Given the description of an element on the screen output the (x, y) to click on. 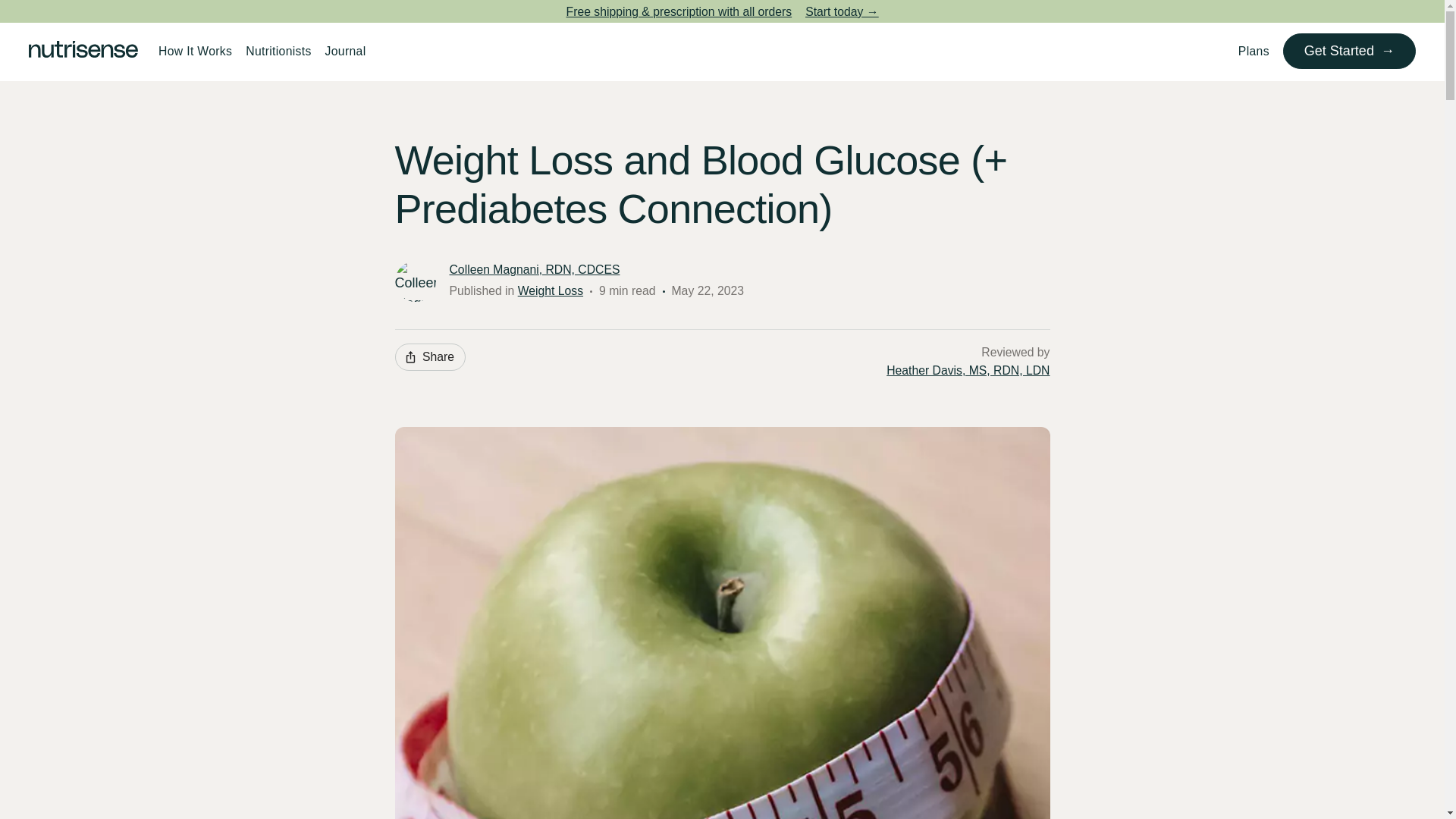
Journal (345, 51)
Colleen Magnani, RDN, CDCES (534, 270)
How It Works (194, 51)
Heather Davis, MS, RDN, LDN (967, 370)
Nutritionists (277, 51)
Plans (1253, 51)
Get Started (1348, 50)
Weight Loss (550, 290)
